Given the description of an element on the screen output the (x, y) to click on. 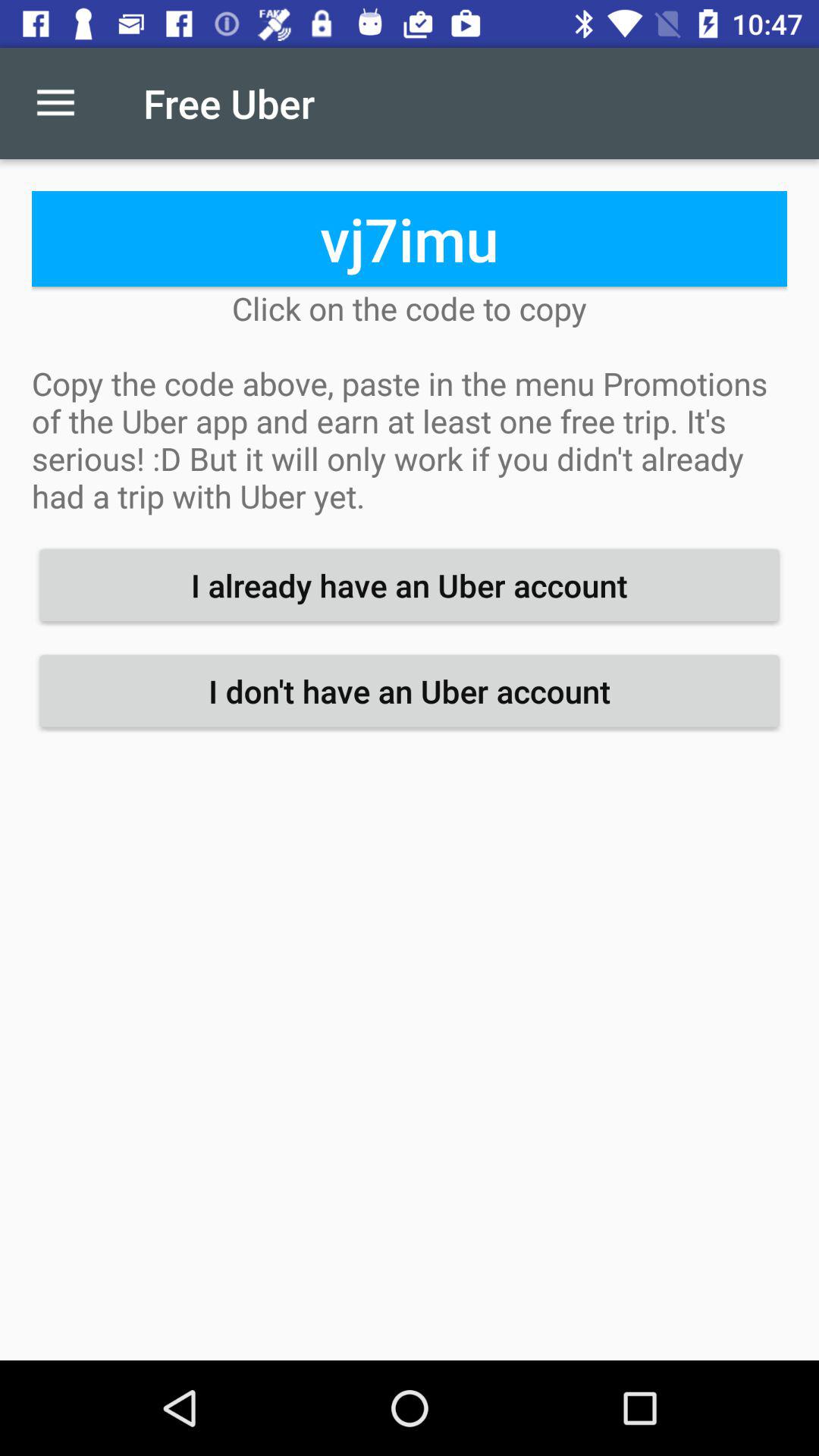
open the item next to free uber icon (55, 103)
